Given the description of an element on the screen output the (x, y) to click on. 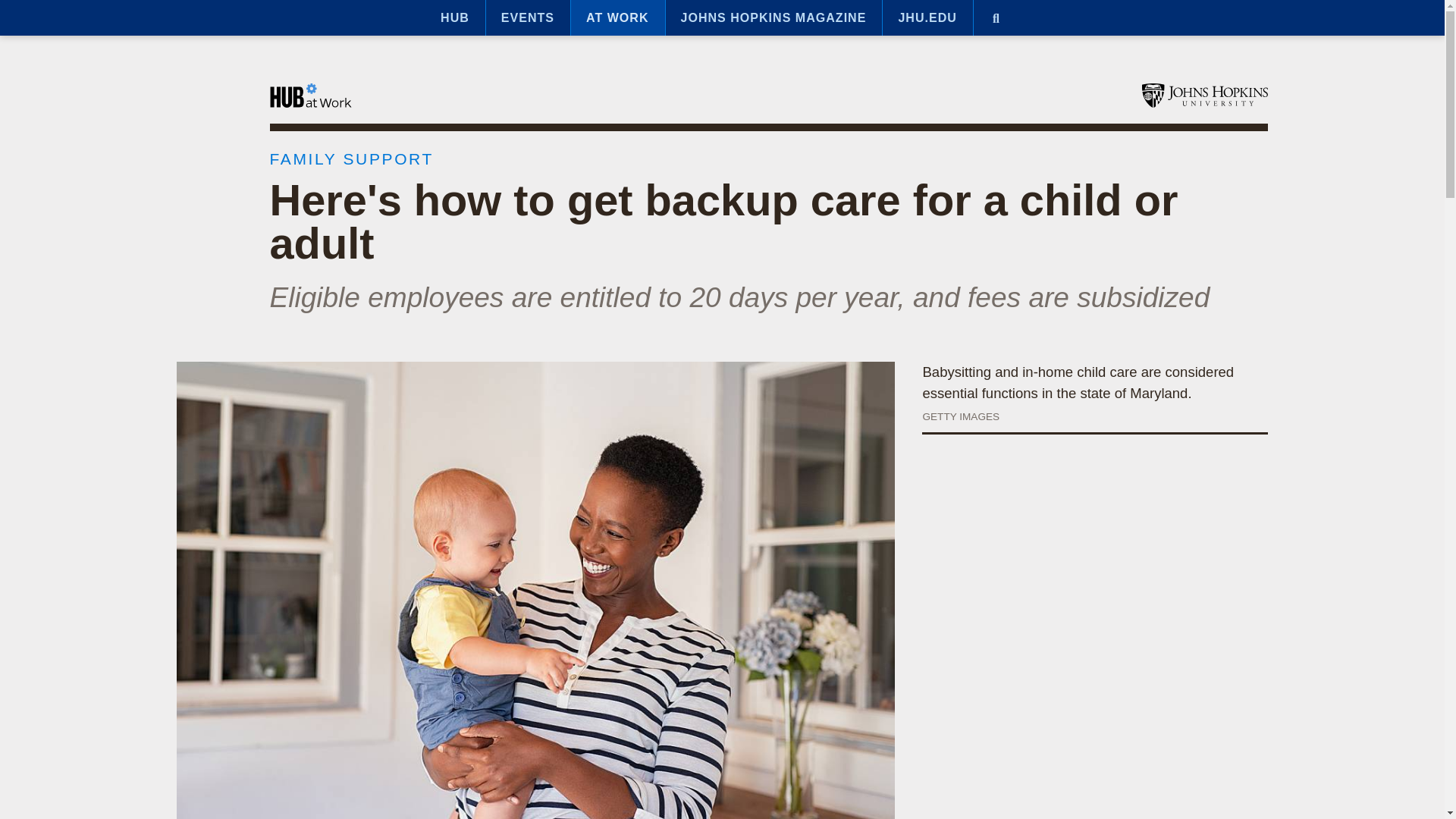
Johns Hopkins University (1204, 95)
HUB (454, 18)
JOHNS HOPKINS MAGAZINE (773, 18)
JHU.EDU (927, 18)
EVENTS (527, 18)
AT WORK (616, 18)
